Given the description of an element on the screen output the (x, y) to click on. 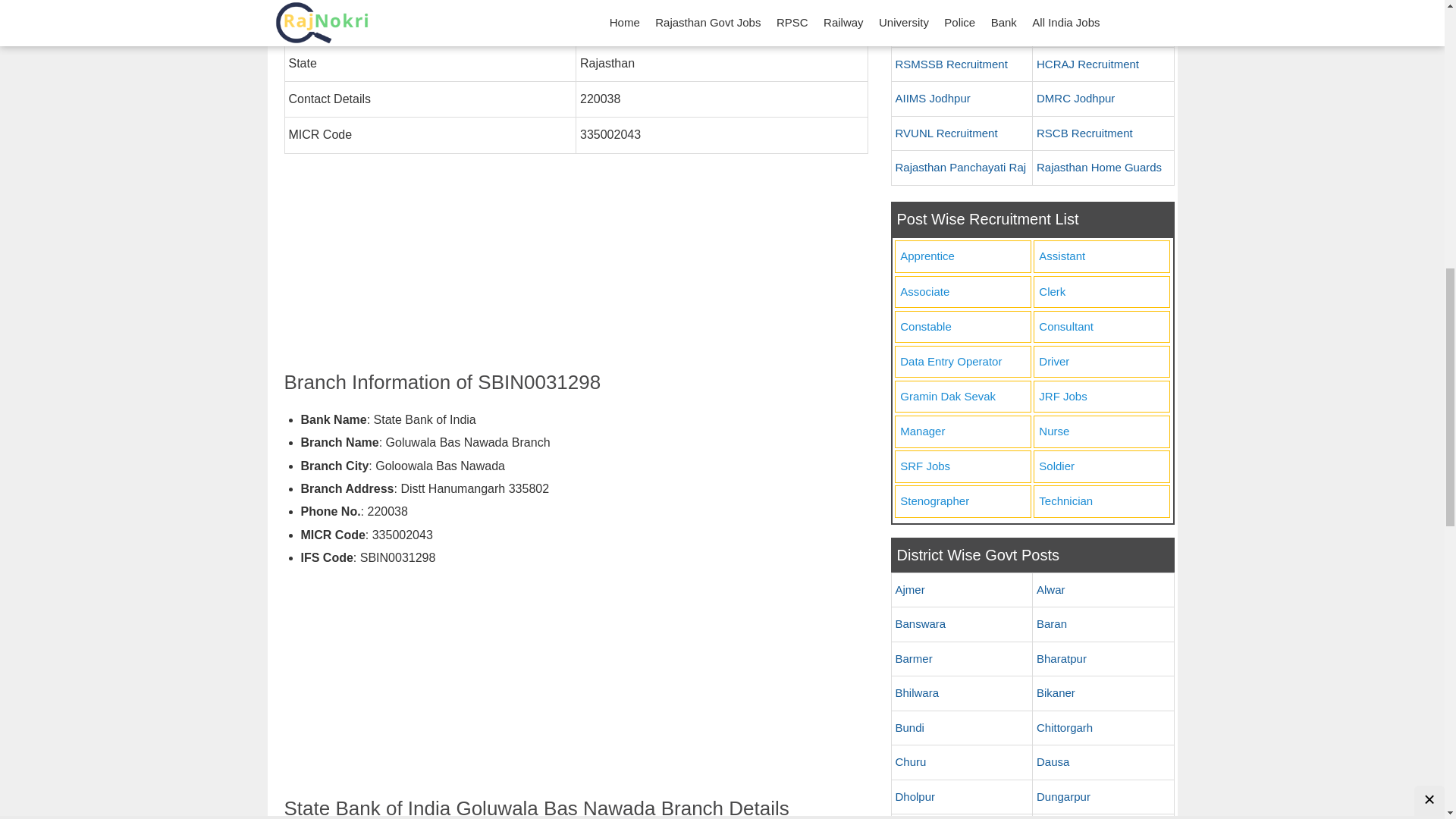
Consultant (1101, 327)
Rajasthan Panchayati Raj (961, 168)
RSMSSB Recruitment (961, 65)
RVUNL Recruitment (961, 133)
Driver (1101, 361)
AIIMS Jodhpur (961, 98)
Constable (962, 327)
RPSC Recruitment (1103, 29)
Advertisement (575, 687)
Apprentice (962, 255)
